Given the description of an element on the screen output the (x, y) to click on. 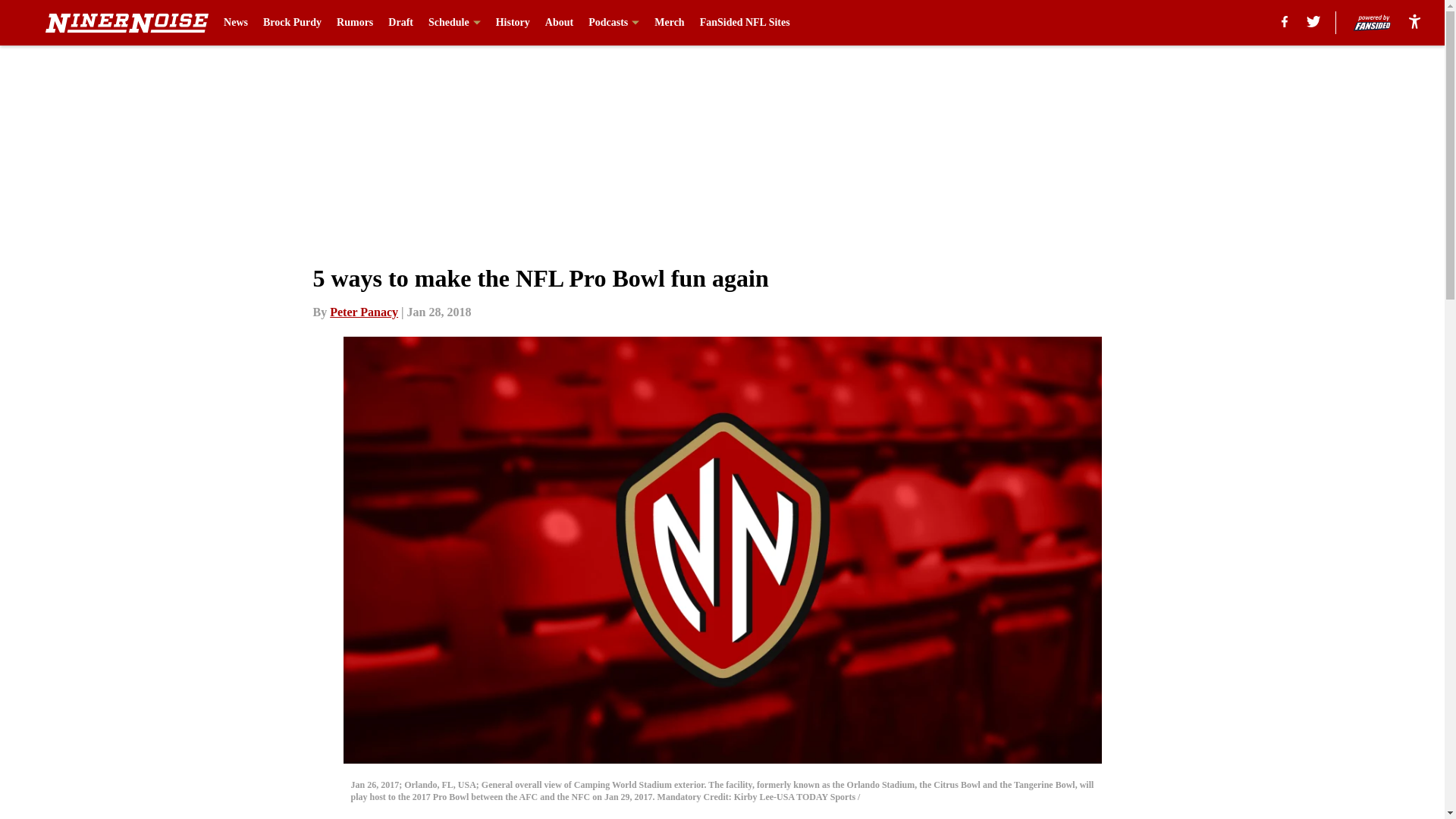
History (512, 22)
News (235, 22)
Draft (400, 22)
Peter Panacy (363, 311)
Rumors (354, 22)
Brock Purdy (292, 22)
About (558, 22)
FanSided NFL Sites (745, 22)
Merch (668, 22)
